Given the description of an element on the screen output the (x, y) to click on. 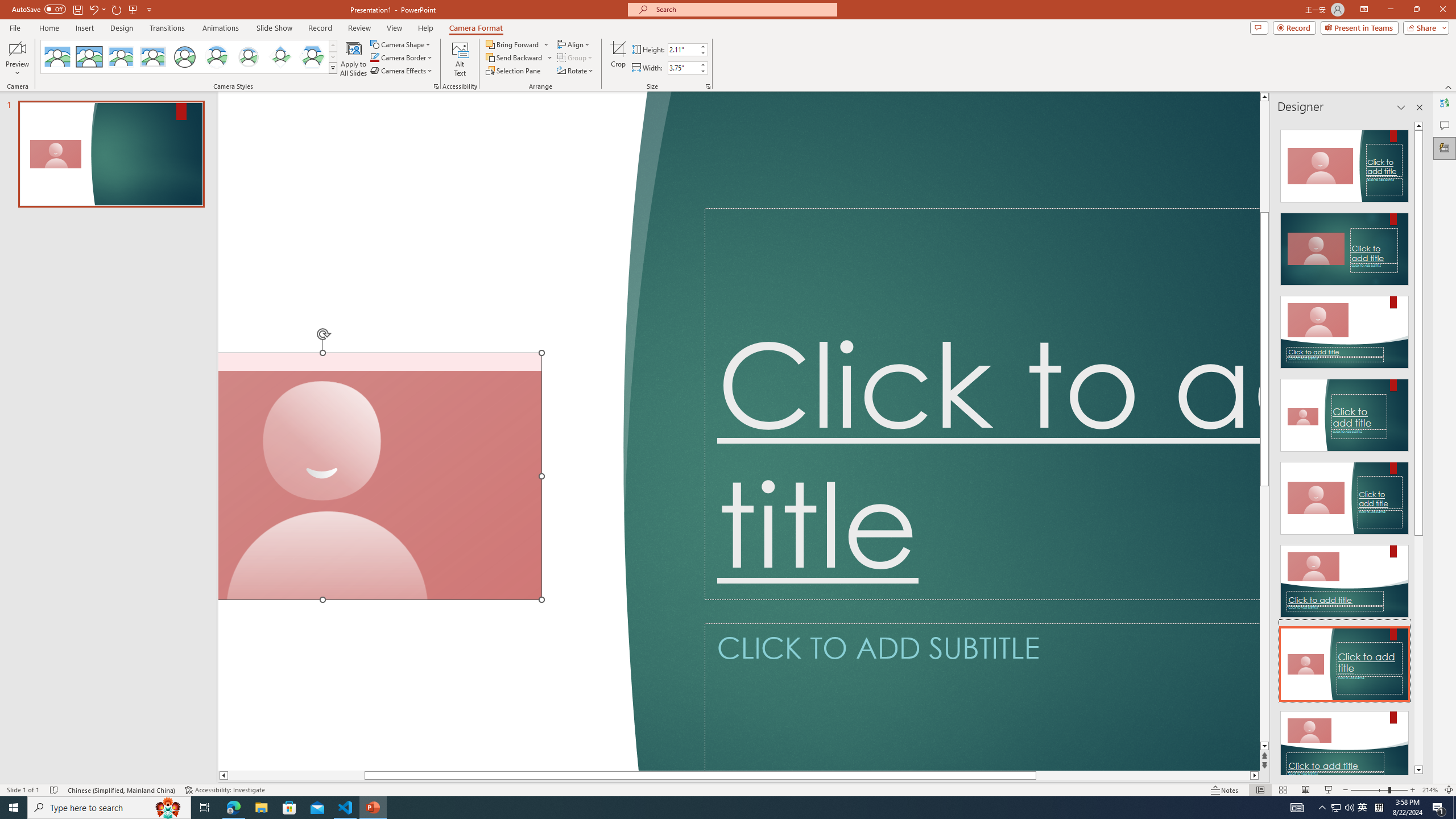
Selection Pane... (513, 69)
Size and Position... (707, 85)
No Style (57, 56)
Preview (17, 58)
Bring Forward (513, 44)
Send Backward (514, 56)
Row Down (333, 56)
